Given the description of an element on the screen output the (x, y) to click on. 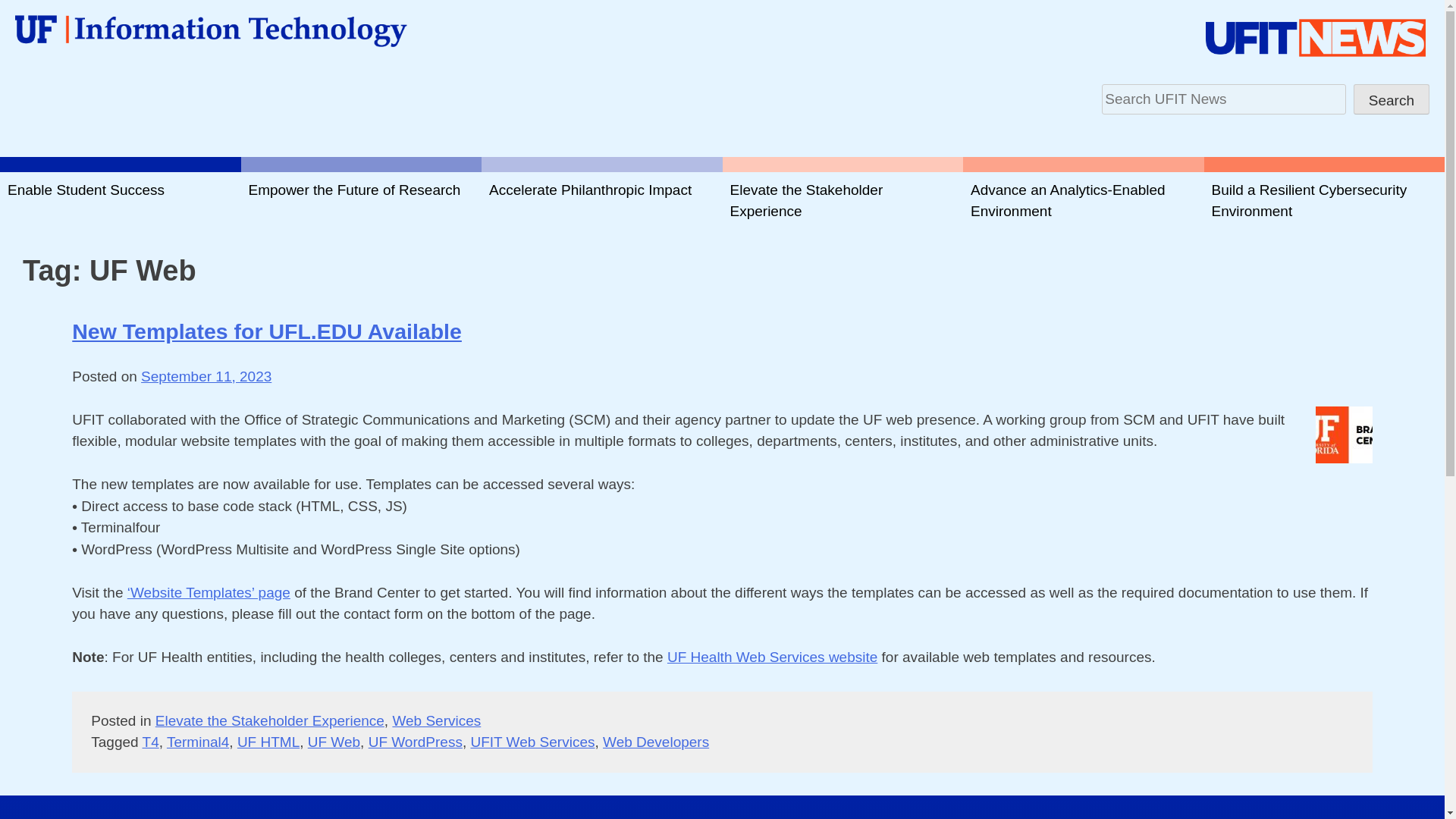
UF HTML (268, 741)
UF WordPress (415, 741)
Web Developers (655, 741)
UF Health Web Services website (771, 657)
Advance an Analytics-Enabled Environment (1083, 200)
Search (1391, 99)
Enable Student Success (120, 200)
Web Services (435, 720)
UFIT Web Services (532, 741)
T4 (150, 741)
Empower the Future of Research (361, 200)
UF Web (333, 741)
Terminal4 (197, 741)
Elevate the Stakeholder Experience (269, 720)
Elevate the Stakeholder Experience (842, 200)
